Given the description of an element on the screen output the (x, y) to click on. 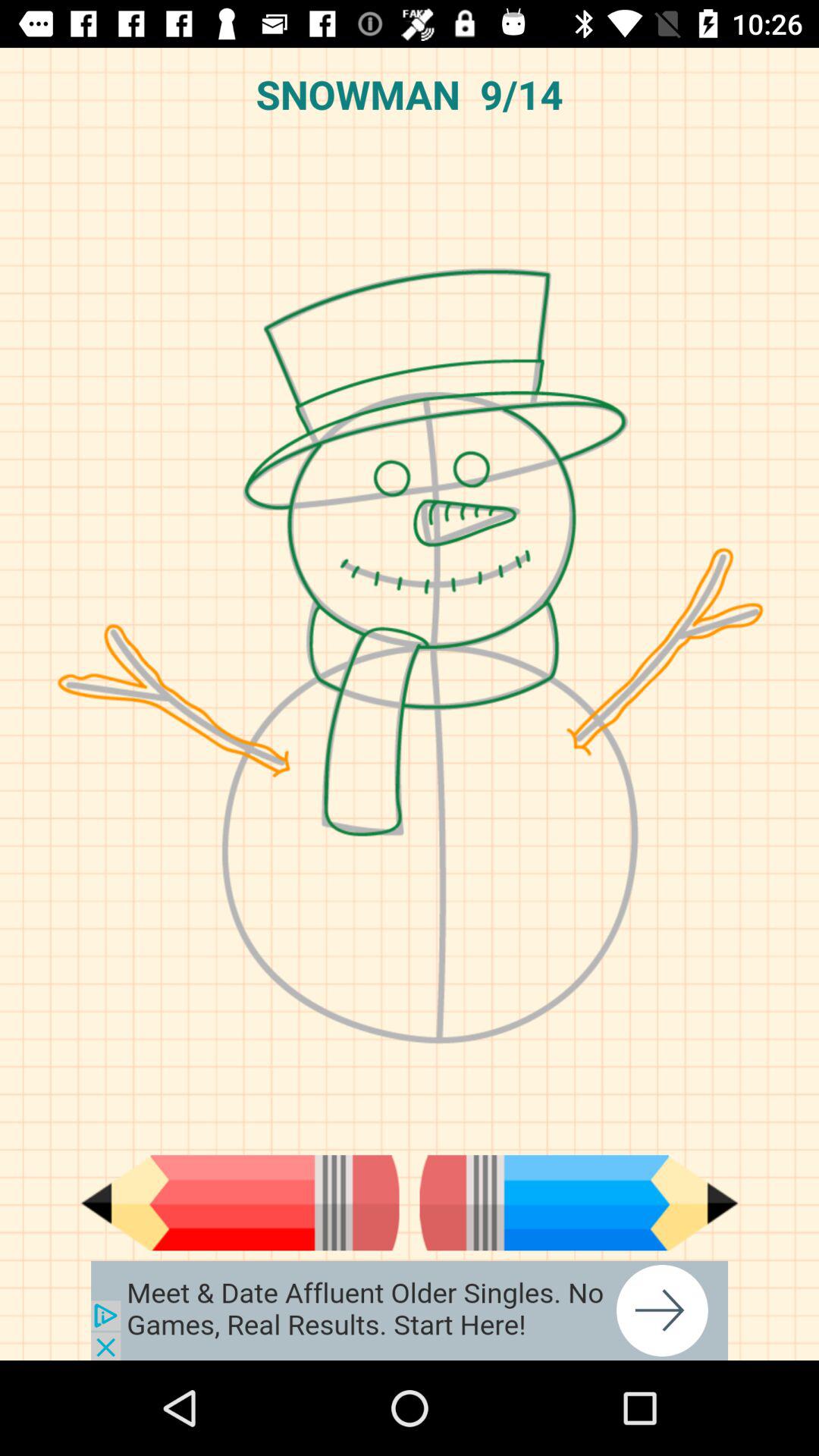
go to the advertised site (409, 1310)
